Given the description of an element on the screen output the (x, y) to click on. 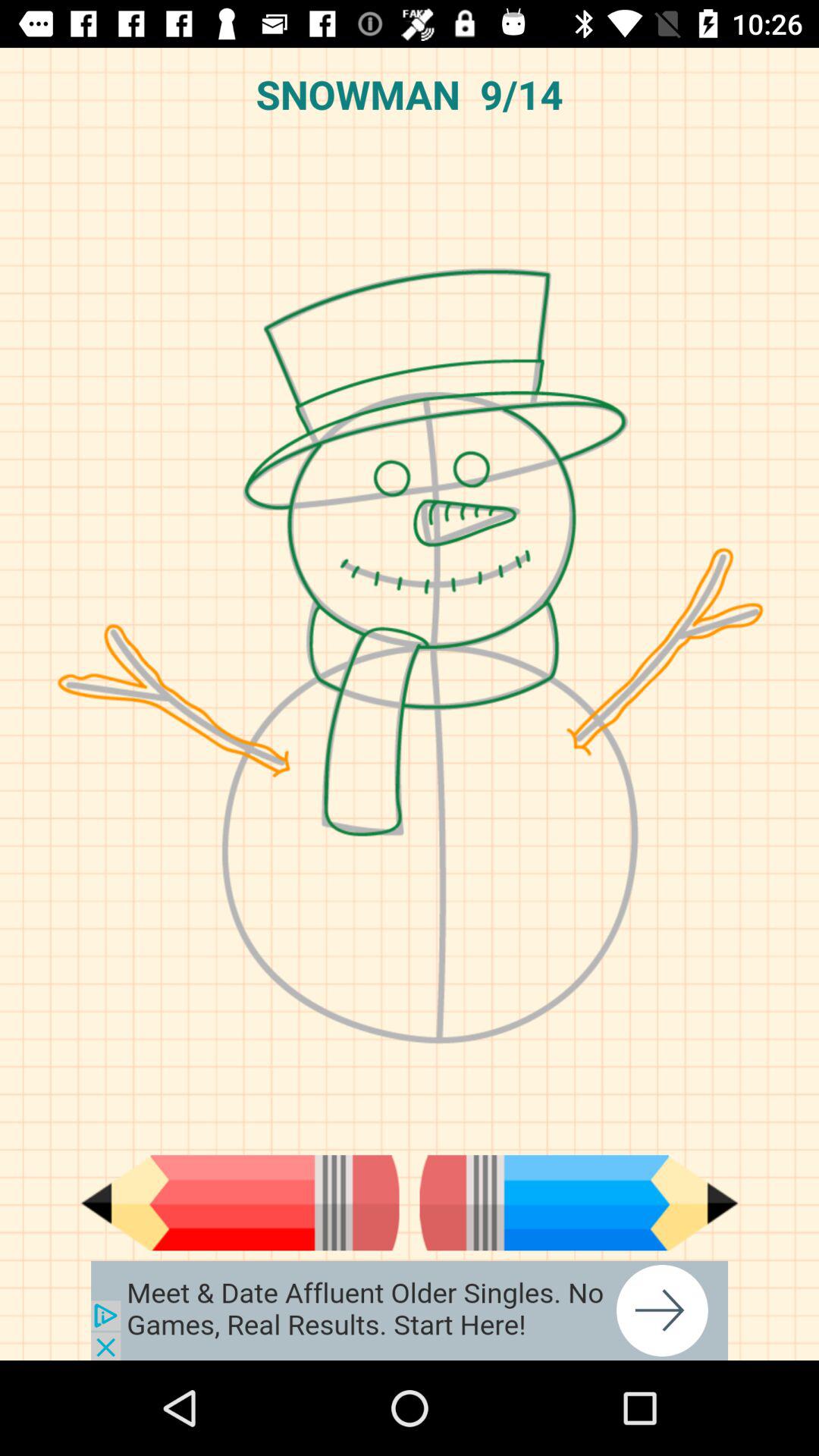
go to the advertised site (409, 1310)
